Given the description of an element on the screen output the (x, y) to click on. 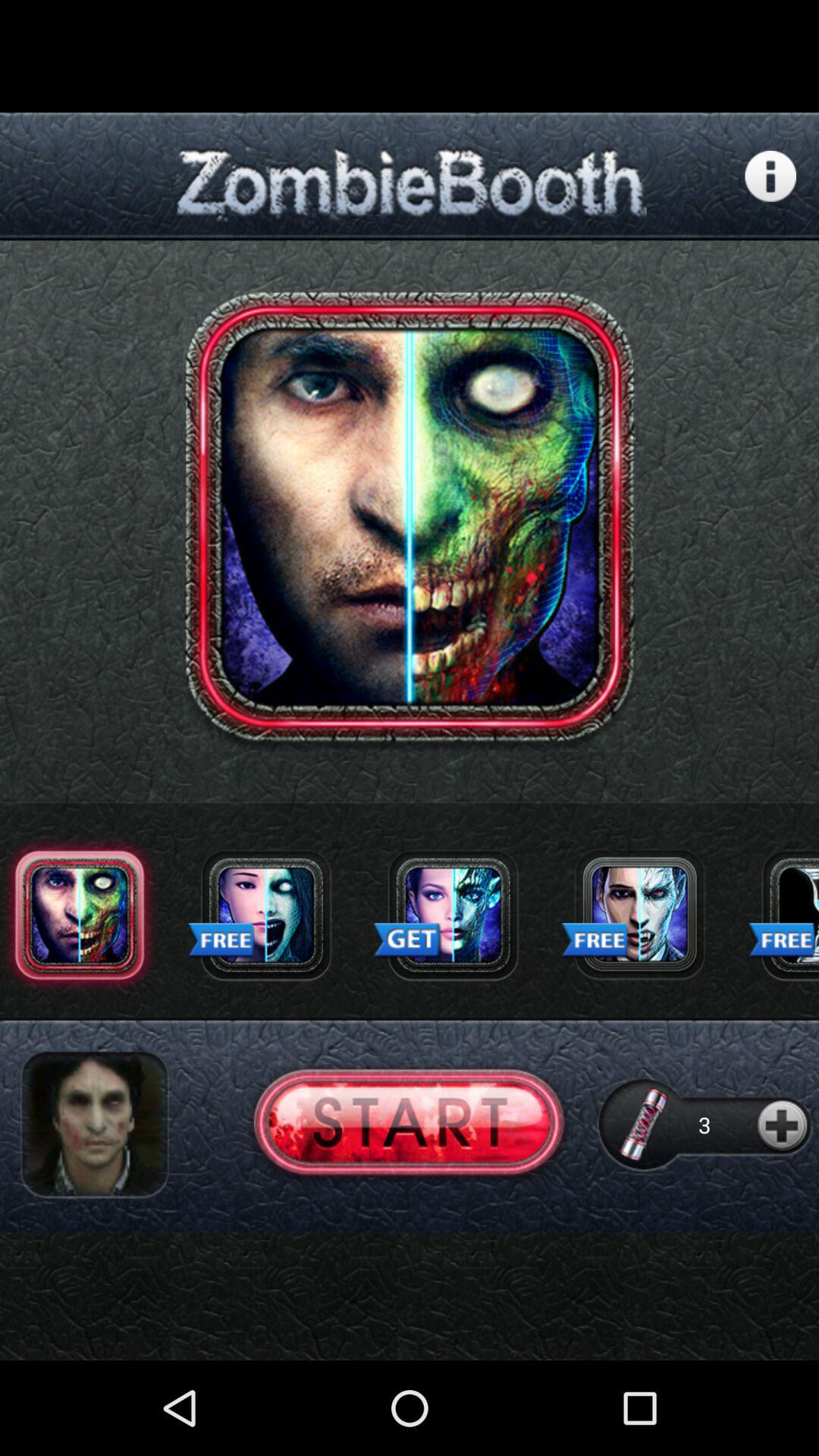
free skin (783, 914)
